Given the description of an element on the screen output the (x, y) to click on. 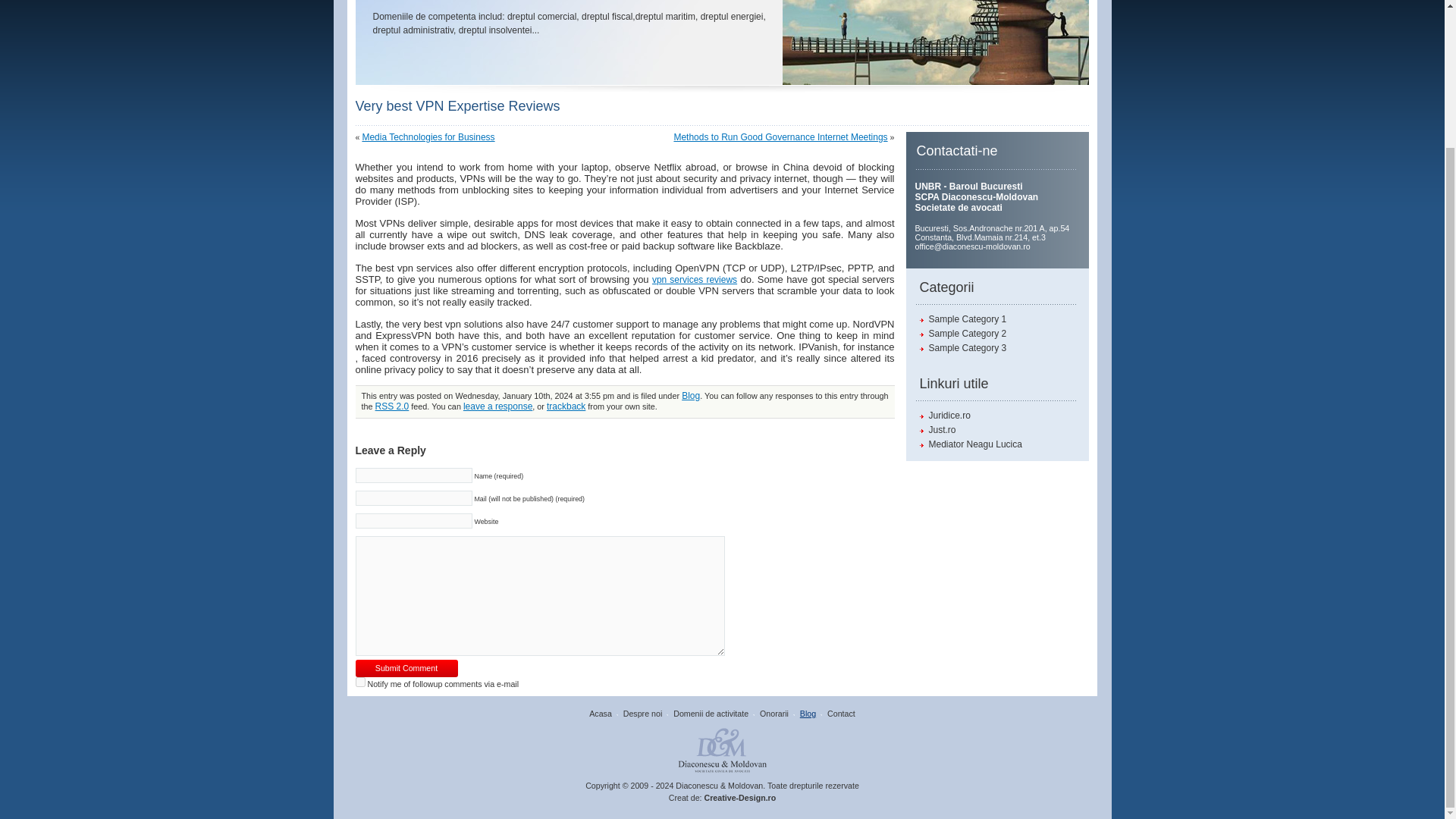
Methods to Run Good Governance Internet Meetings (779, 136)
Sample Category 1 (962, 318)
RSS 2.0 (392, 406)
Domenii de activitate (710, 713)
Submit Comment (406, 668)
Onorarii (774, 713)
Sample Category 2 (962, 333)
Blog (807, 713)
Contact (841, 713)
View all posts in Blog (690, 395)
Submit Comment (406, 668)
Sample Category 3 (962, 347)
Just.ro (936, 429)
Mediator Neagu Lucica (970, 443)
Despre noi (642, 713)
